Given the description of an element on the screen output the (x, y) to click on. 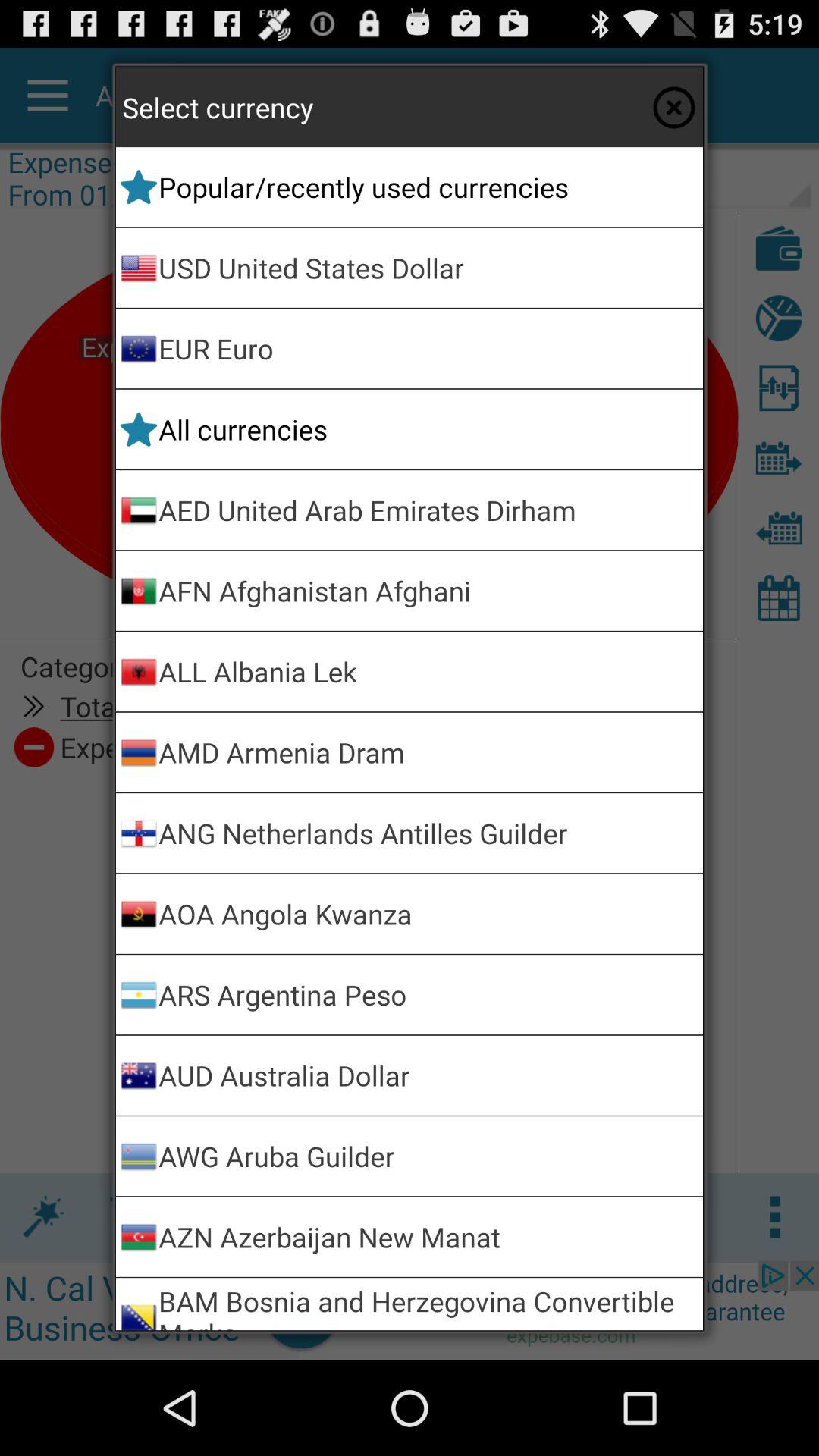
launch the awg aruba guilder item (427, 1156)
